Given the description of an element on the screen output the (x, y) to click on. 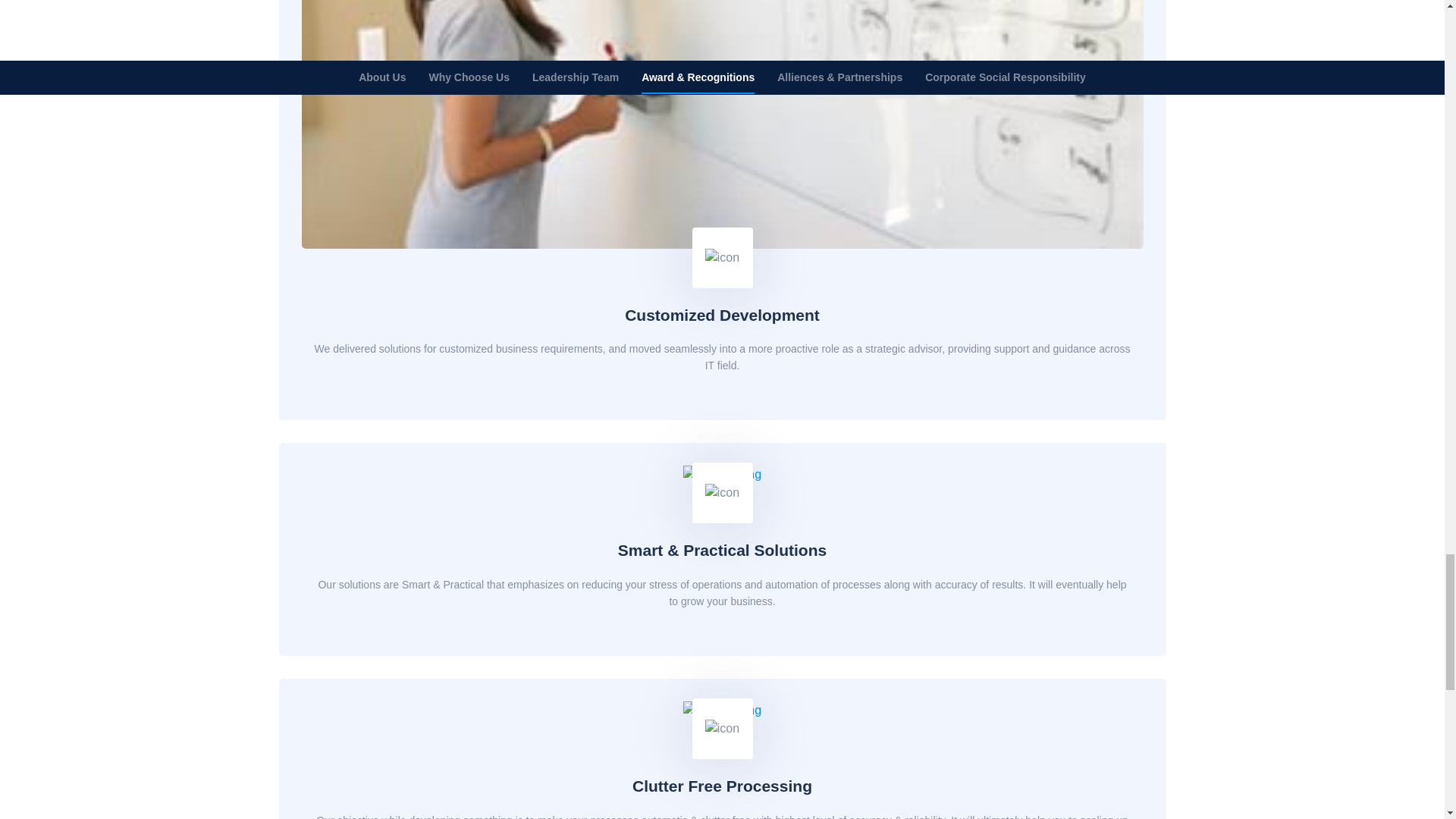
Customized Development (721, 314)
Clutter Free Processing (721, 785)
